Given the description of an element on the screen output the (x, y) to click on. 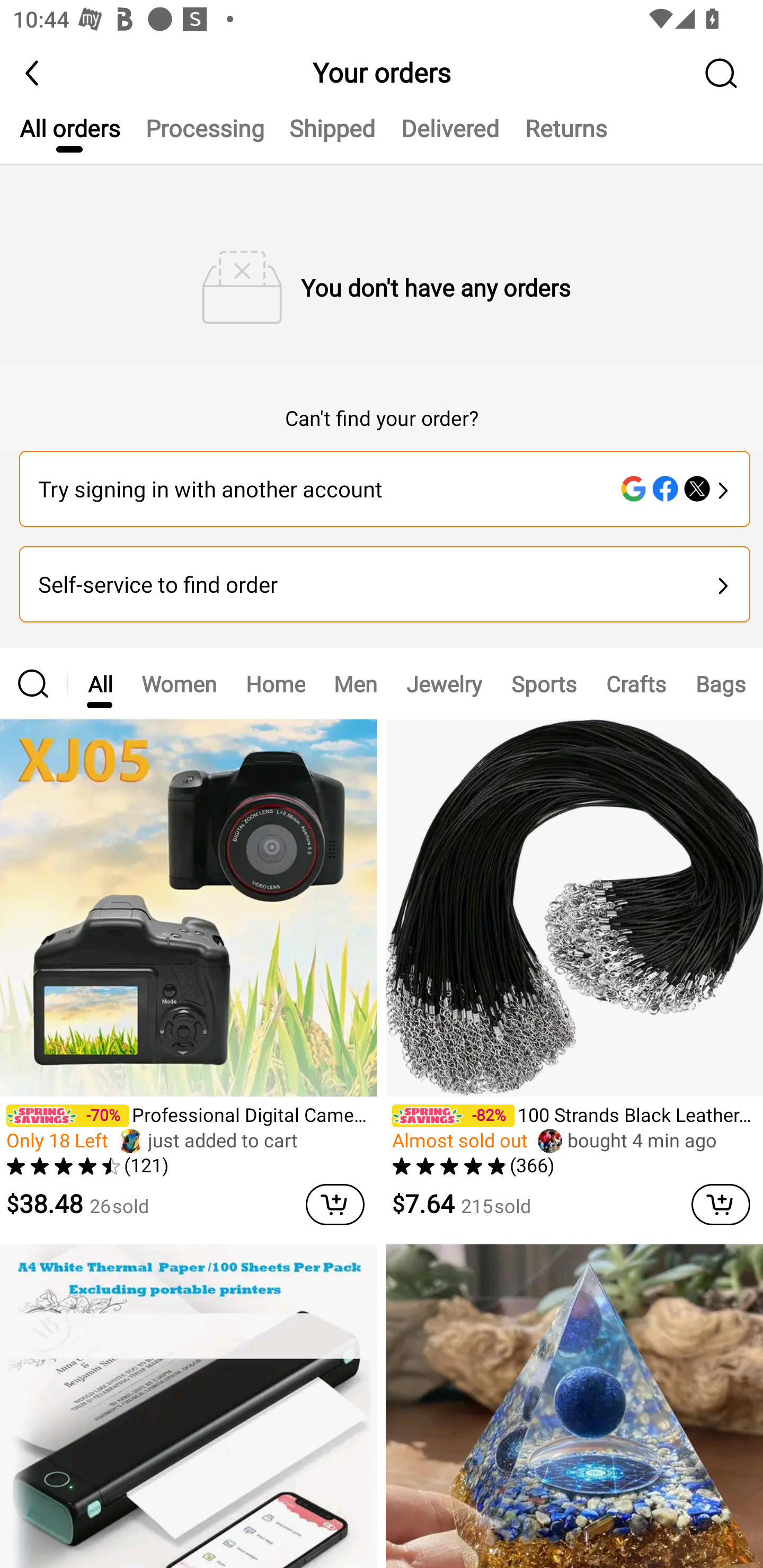
back (41, 72)
All orders (69, 135)
Processing (204, 135)
Shipped (331, 135)
Delivered (449, 135)
Returns (565, 135)
Try signing in with another account (384, 488)
Self-service to find order (384, 583)
All (99, 683)
Women (178, 683)
Home (275, 683)
Men (355, 683)
Jewelry (443, 683)
Sports (543, 683)
Crafts (635, 683)
Bags (719, 683)
cart delete (334, 1203)
cart delete (720, 1203)
